Given the description of an element on the screen output the (x, y) to click on. 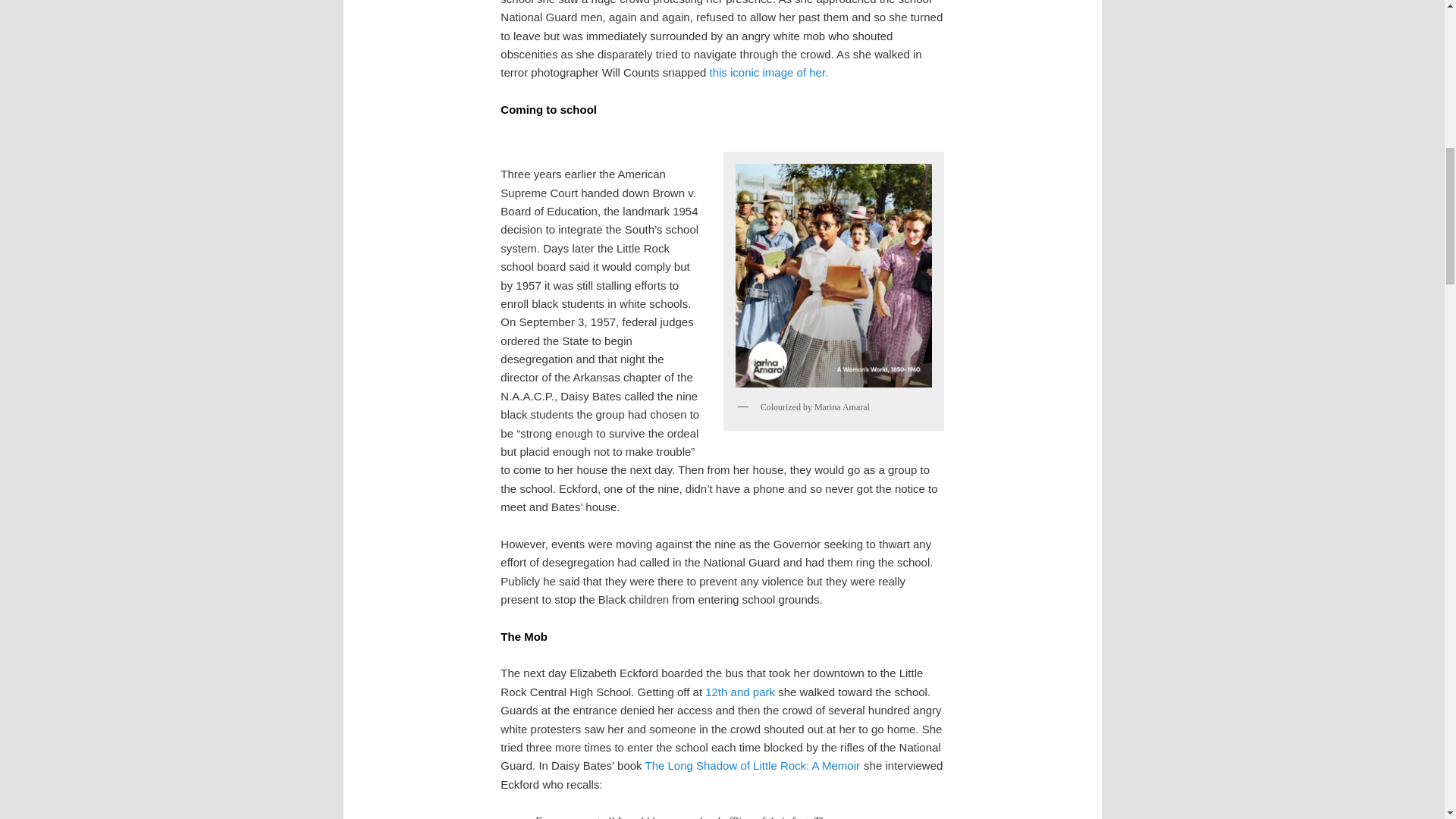
The Long Shadow of Little Rock: A Memoir (752, 765)
this iconic image of her. (767, 72)
12th and park (739, 691)
